Given the description of an element on the screen output the (x, y) to click on. 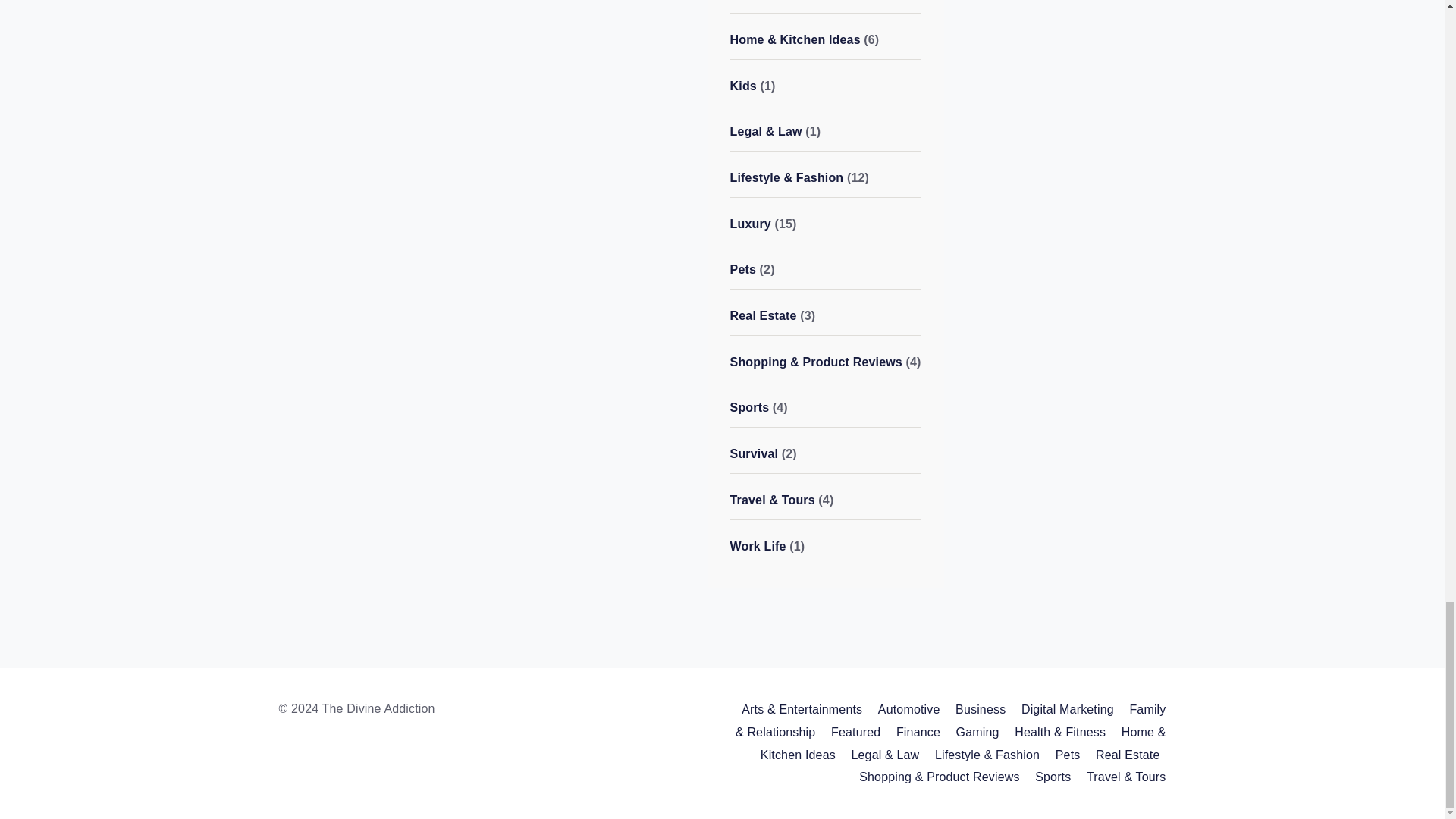
Pets (742, 269)
Luxury (750, 223)
Real Estate (763, 315)
Kids (743, 85)
